Given the description of an element on the screen output the (x, y) to click on. 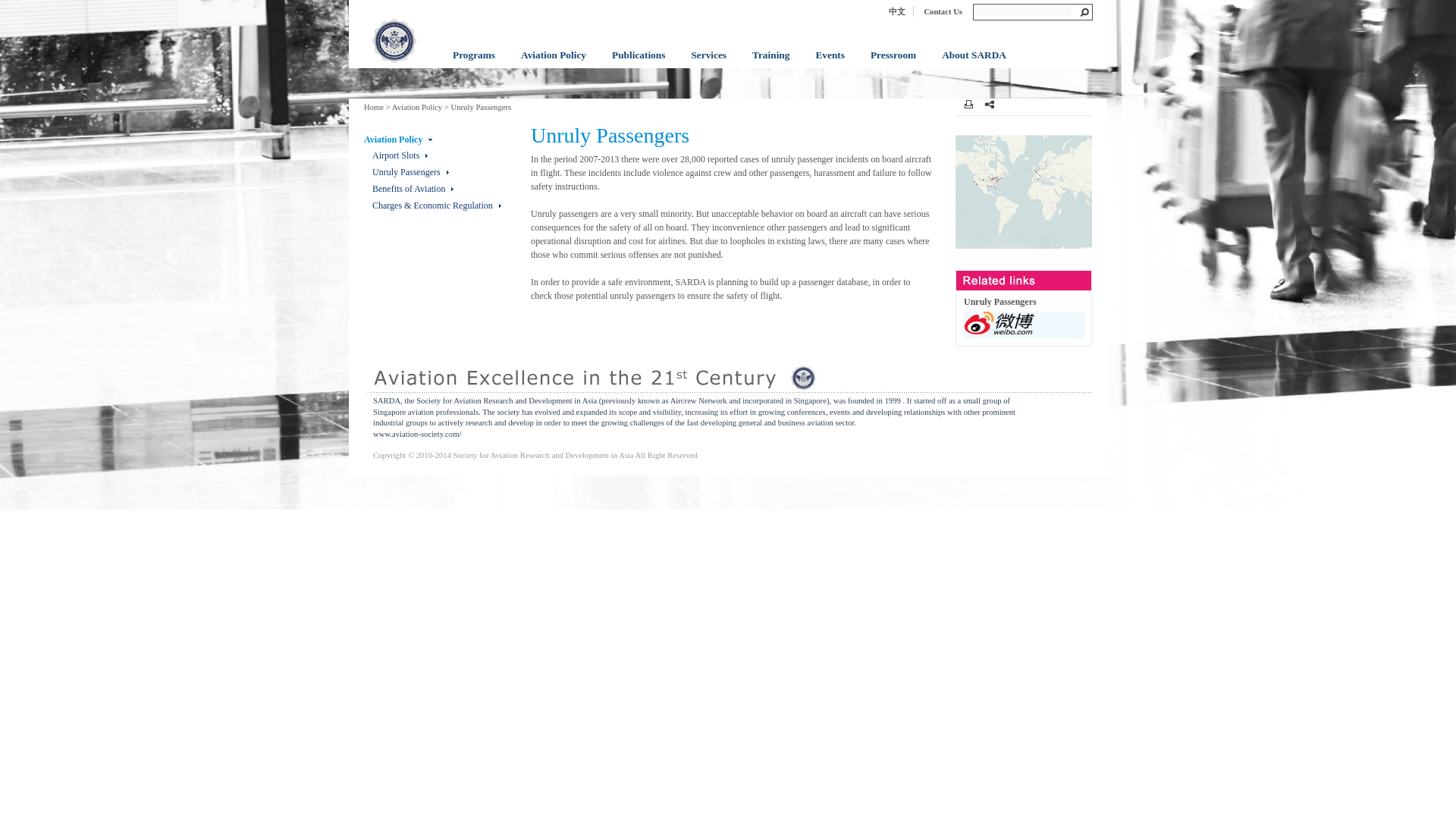
Print this page (967, 103)
Aviation Policy (553, 64)
About SARDA (974, 64)
Services (708, 64)
Pressroom (892, 64)
Search (1022, 9)
Events (829, 64)
Programs (473, 64)
Publications (638, 64)
Training (770, 64)
Share this page (989, 103)
